Given the description of an element on the screen output the (x, y) to click on. 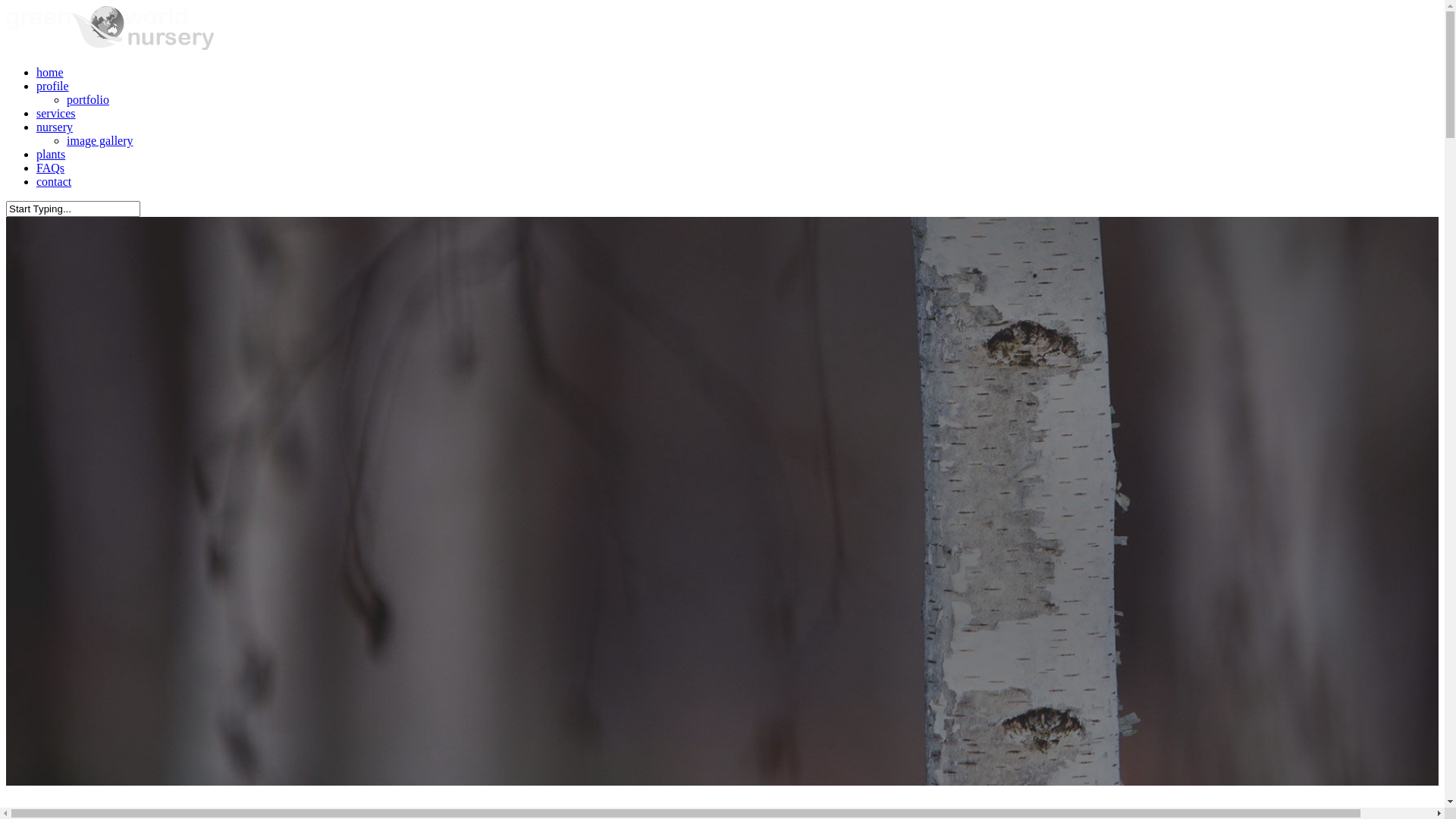
Skip to main content Element type: text (5, 5)
nursery Element type: text (54, 126)
profile Element type: text (52, 85)
portfolio Element type: text (87, 99)
image gallery Element type: text (99, 140)
contact Element type: text (53, 181)
plants Element type: text (50, 153)
FAQs Element type: text (50, 167)
services Element type: text (55, 112)
home Element type: text (49, 71)
